Given the description of an element on the screen output the (x, y) to click on. 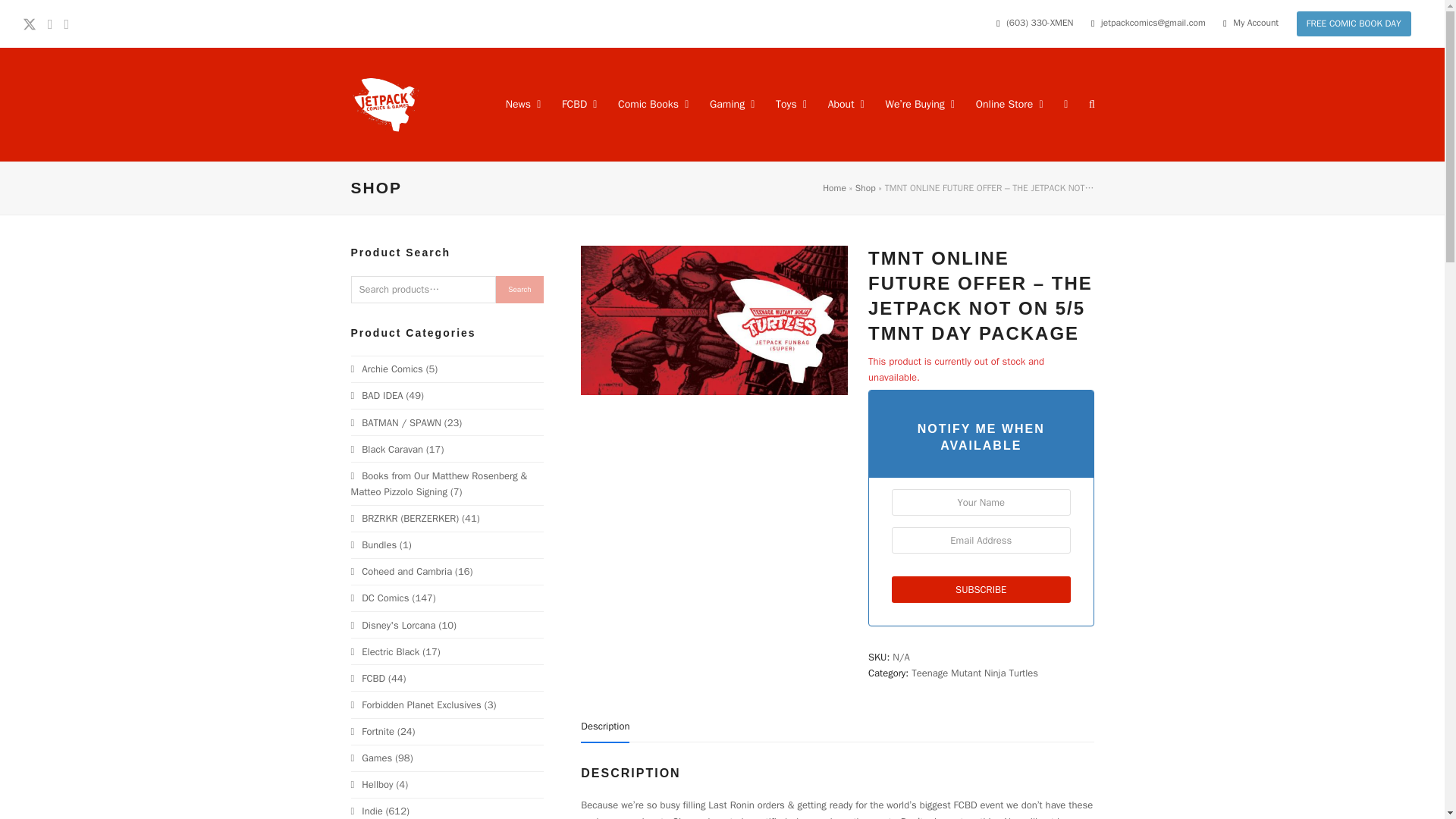
tmnt-2 (713, 319)
SUBSCRIBE (980, 589)
My Account (1255, 23)
FREE COMIC BOOK DAY (1353, 23)
